Given the description of an element on the screen output the (x, y) to click on. 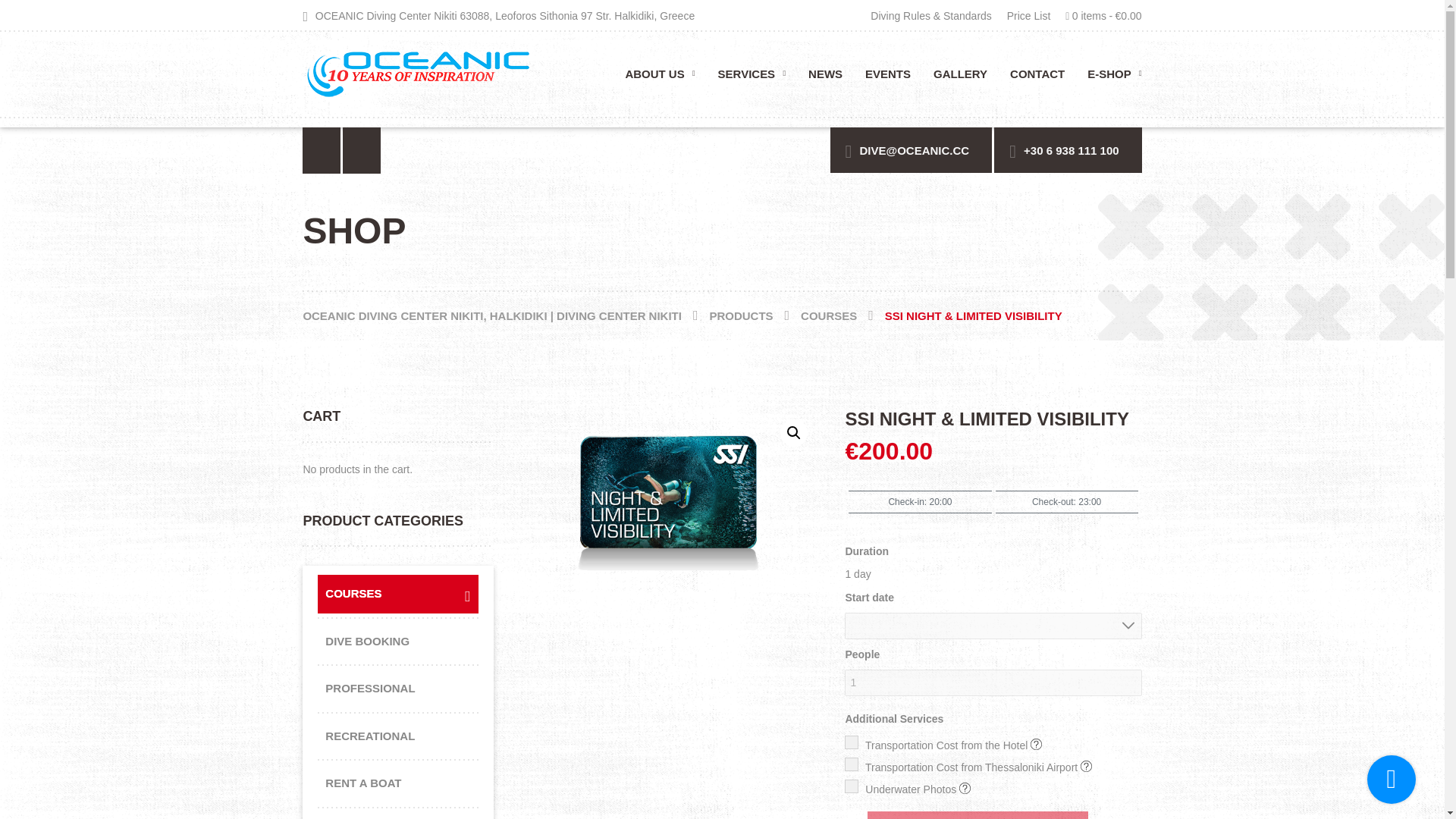
Go to the Courses Category archives. (842, 315)
ABOUT US (659, 78)
Price List (1029, 15)
Start shopping (1100, 15)
1 (992, 682)
Go to Products. (754, 315)
SERVICES (751, 78)
